Given the description of an element on the screen output the (x, y) to click on. 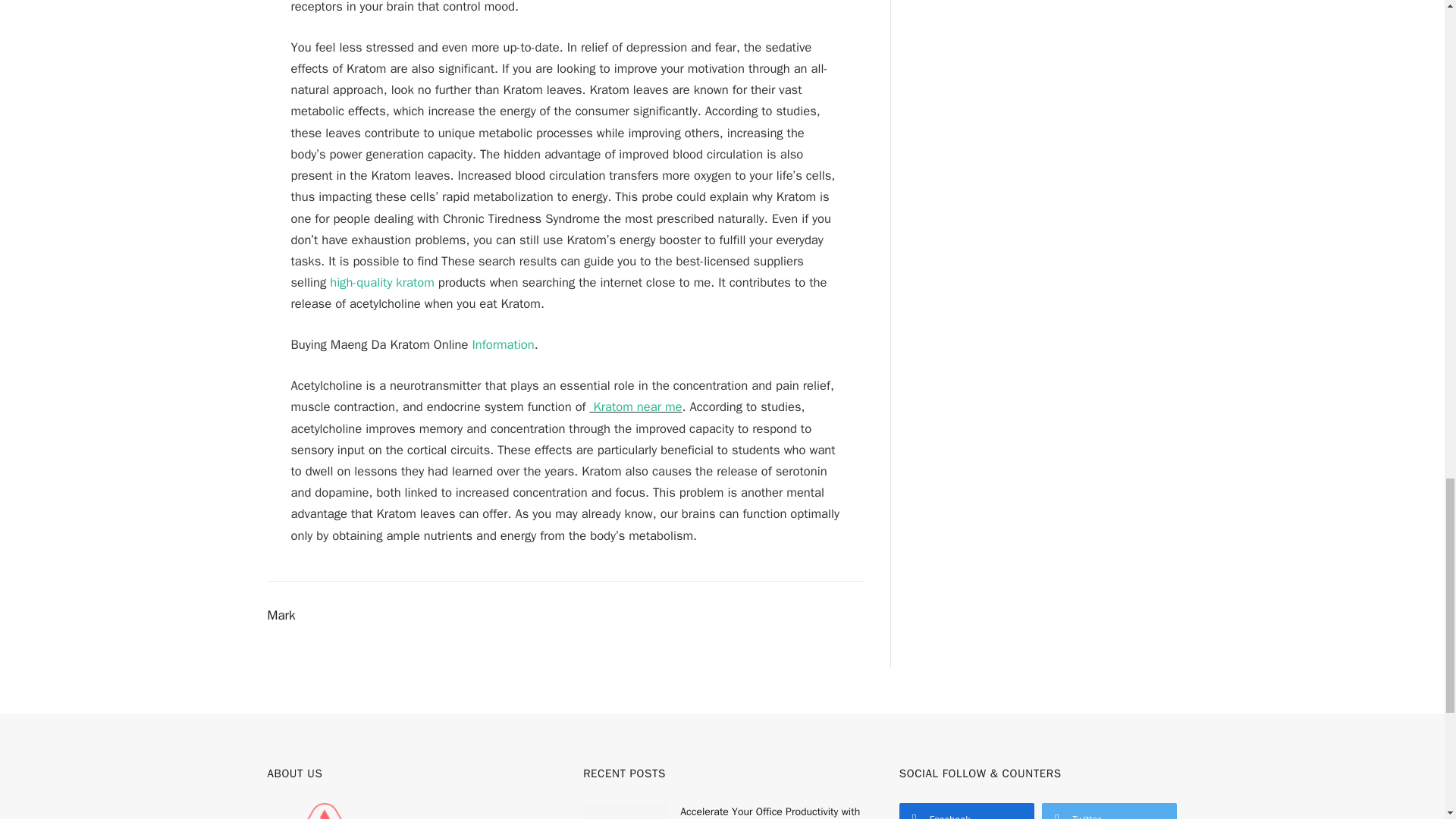
Kratom near me (635, 406)
Mark (280, 615)
high-quality kratom (381, 282)
Information (502, 344)
Posts by Mark (280, 615)
